Given the description of an element on the screen output the (x, y) to click on. 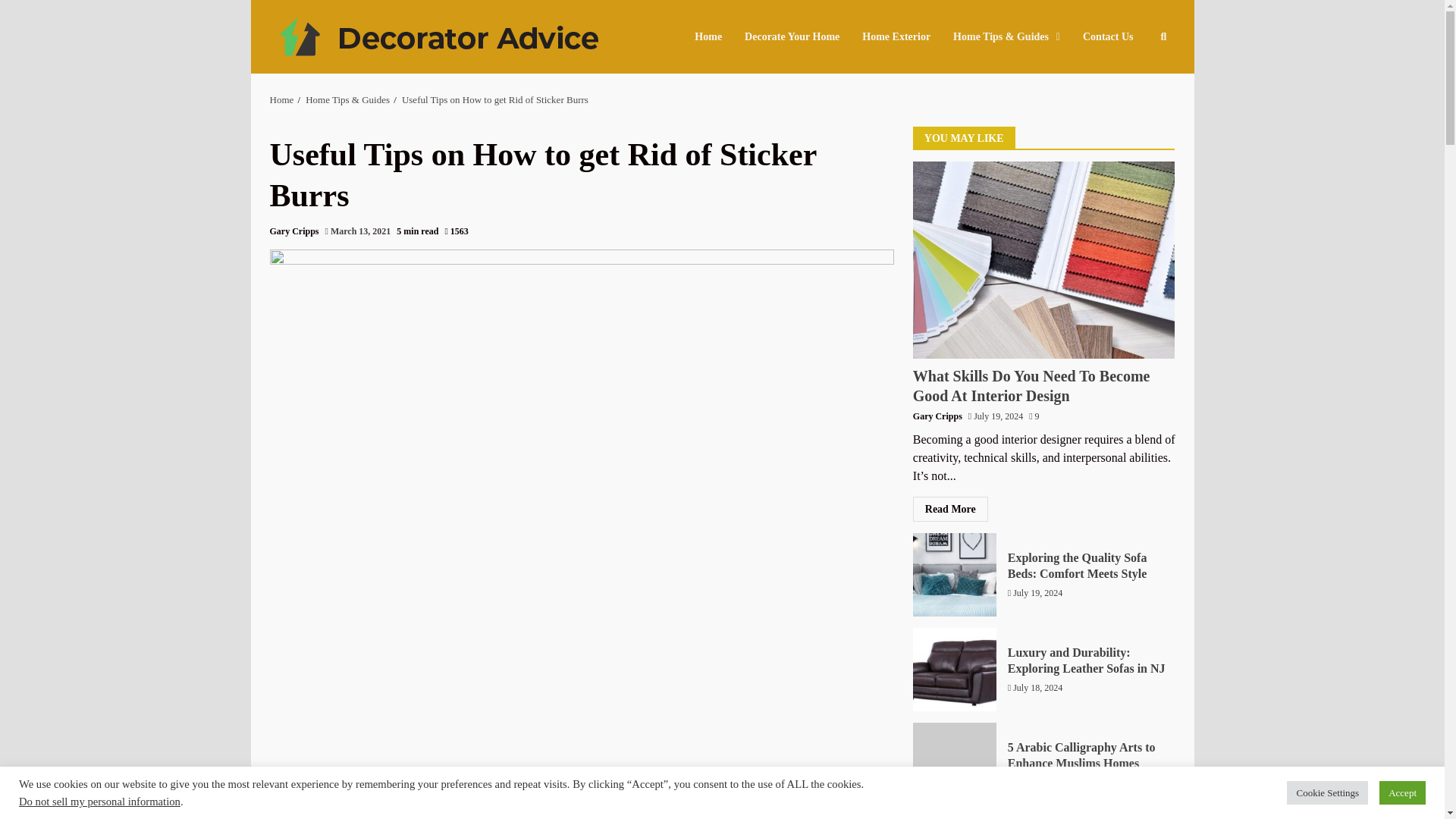
1563 (455, 231)
Decorate Your Home (791, 36)
Home (281, 99)
Contact Us (1102, 36)
Gary Cripps (293, 231)
Home (713, 36)
Home Exterior (896, 36)
Useful Tips on How to get Rid of Sticker Burrs (494, 99)
Search (1135, 82)
